Given the description of an element on the screen output the (x, y) to click on. 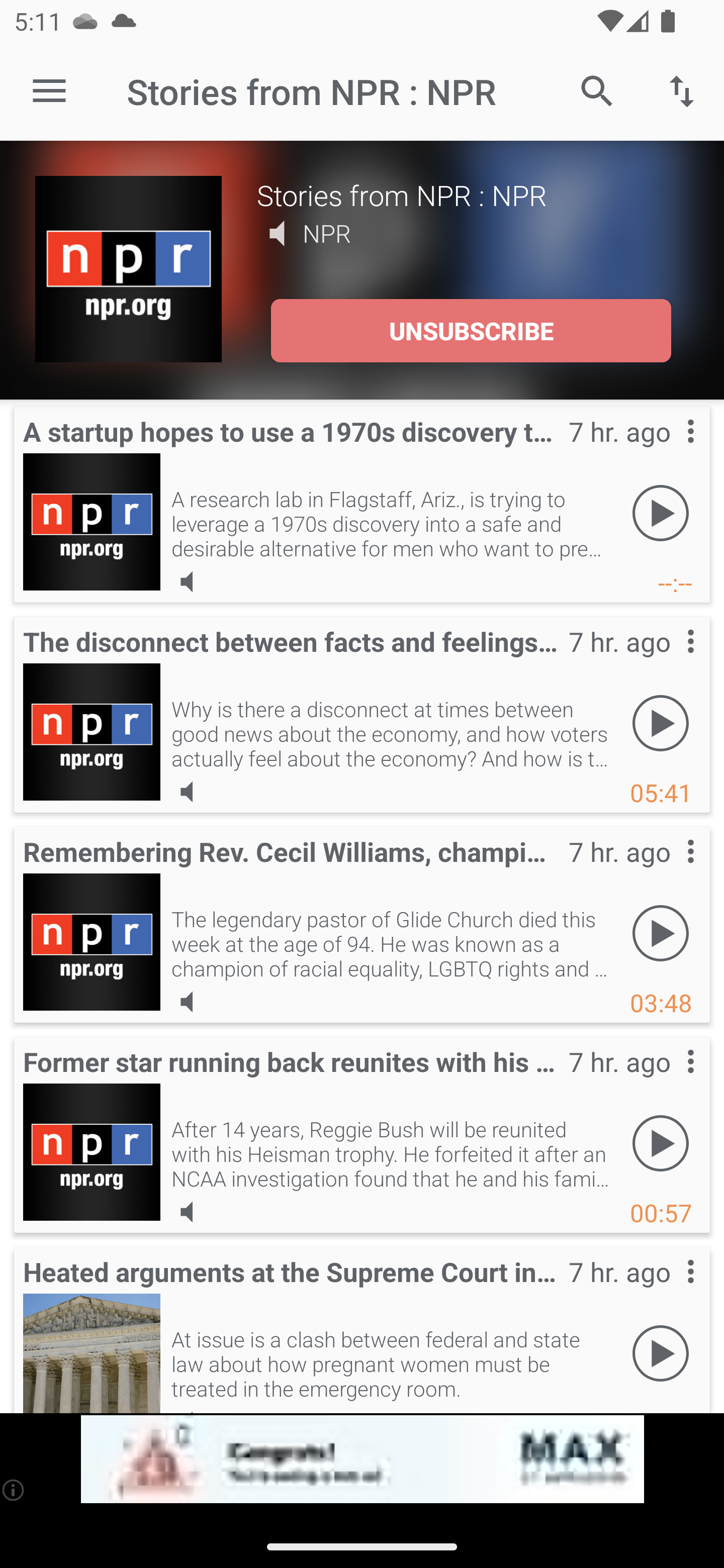
Open navigation sidebar (49, 91)
Search (597, 90)
Sort (681, 90)
UNSUBSCRIBE (470, 330)
Contextual menu (668, 451)
Play (660, 513)
Contextual menu (668, 661)
Play (660, 723)
Contextual menu (668, 870)
Play (660, 933)
Contextual menu (668, 1080)
Play (660, 1143)
Contextual menu (668, 1290)
Play (660, 1353)
app-monetization (362, 1459)
(i) (14, 1489)
